Given the description of an element on the screen output the (x, y) to click on. 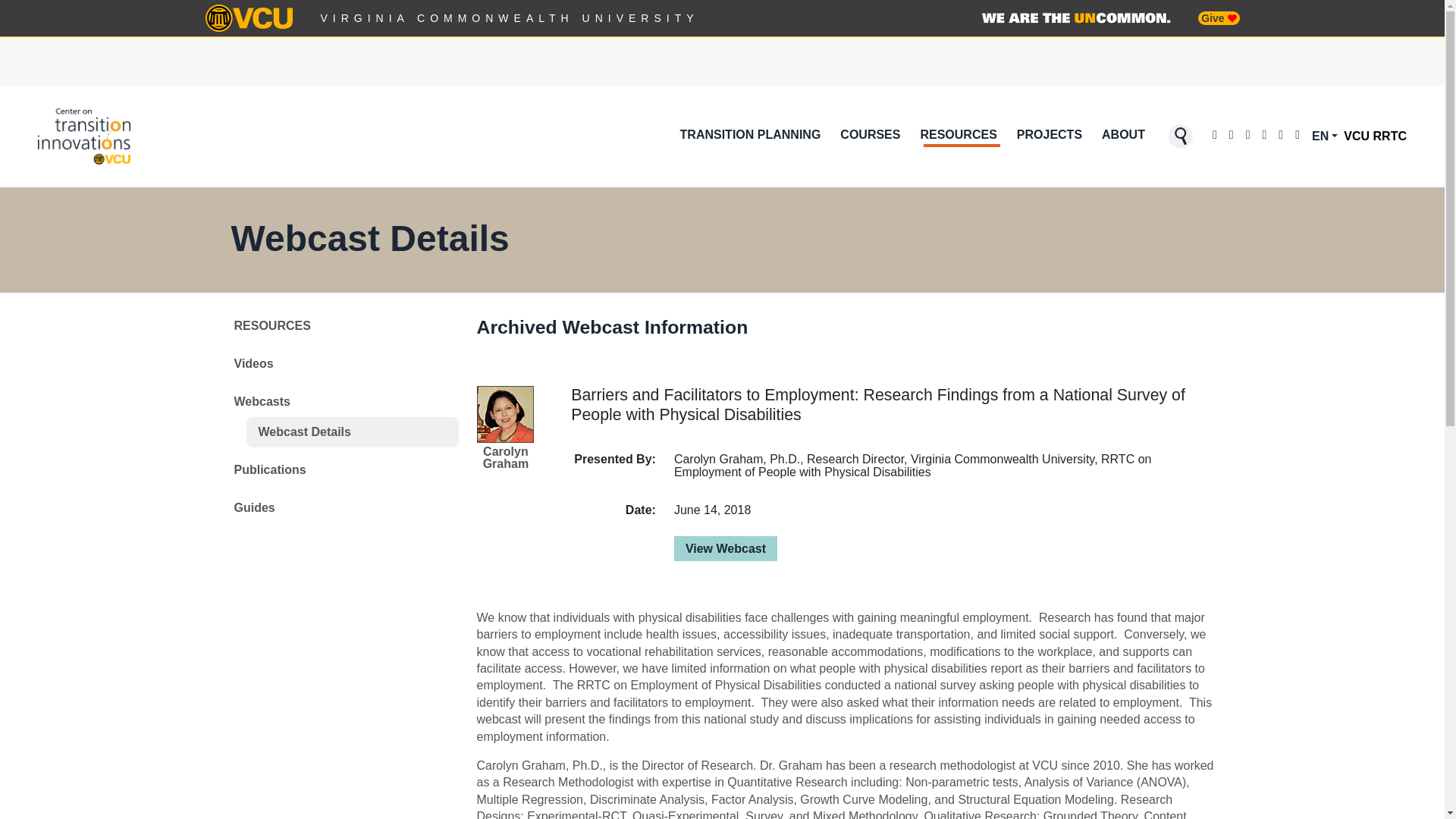
VIRGINIA COMMONWEALTH UNIVERSITY (509, 18)
RESOURCES (958, 136)
PROJECTS (1048, 136)
ABOUT (1123, 136)
TRANSITION PLANNING (750, 136)
We are the UNCOMMON. (1075, 17)
COURSES (869, 136)
Give  (1218, 18)
